Given the description of an element on the screen output the (x, y) to click on. 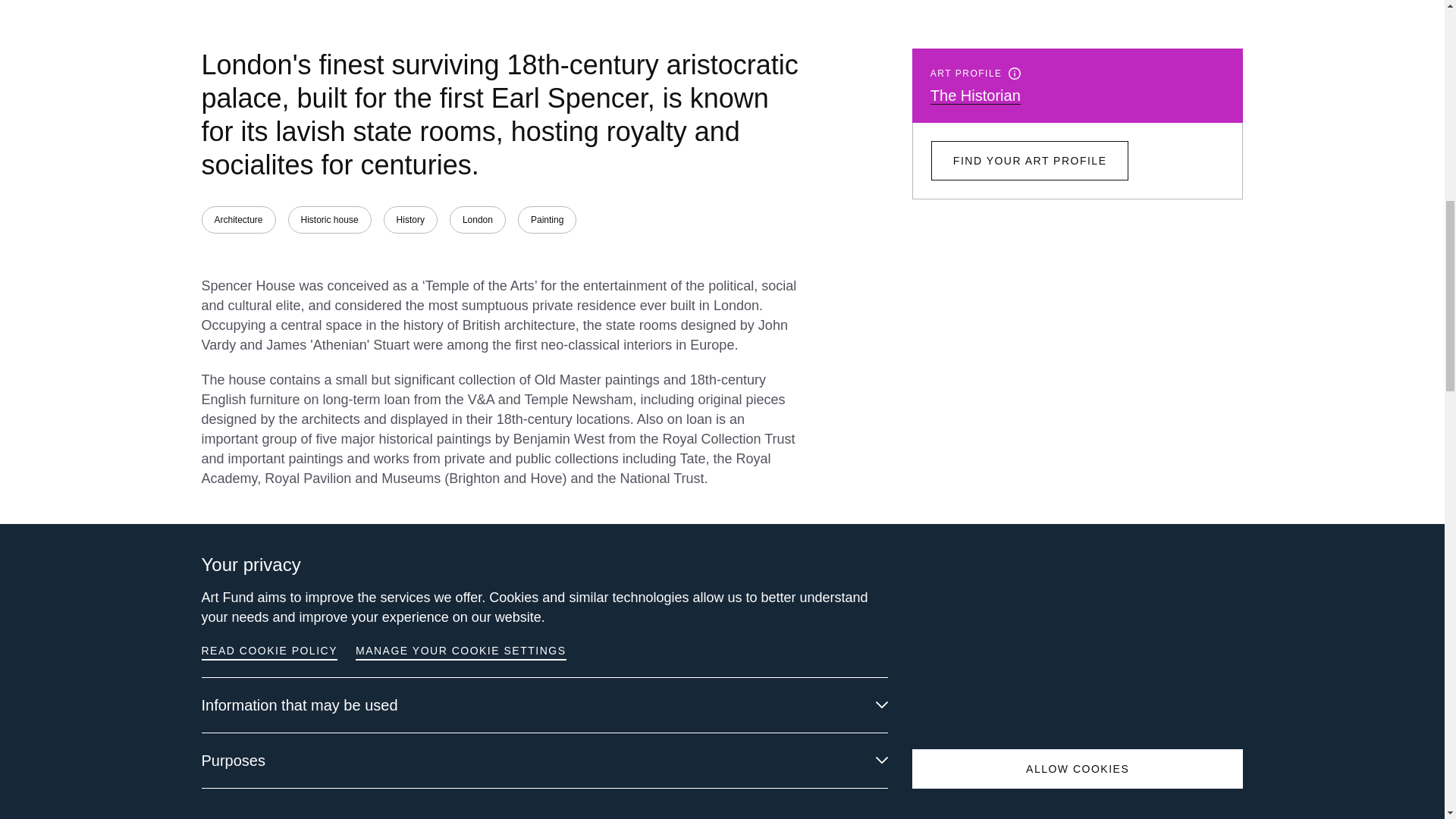
Architecture (239, 219)
The Historian (975, 95)
Painting (547, 219)
History (411, 219)
Historic house (329, 219)
London (477, 219)
FIND YOUR ART PROFILE (1030, 160)
